Given the description of an element on the screen output the (x, y) to click on. 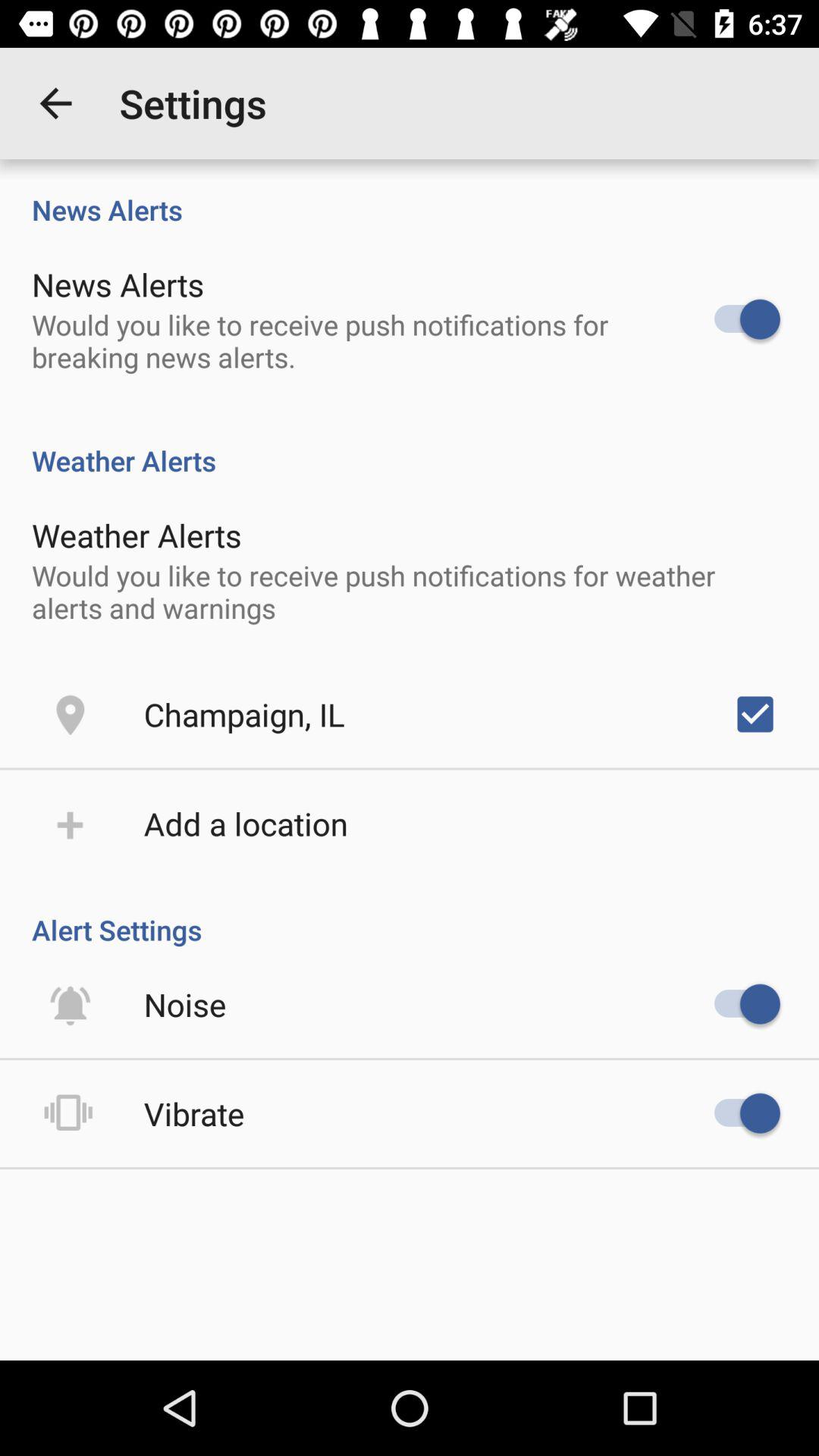
launch add a location item (245, 823)
